Given the description of an element on the screen output the (x, y) to click on. 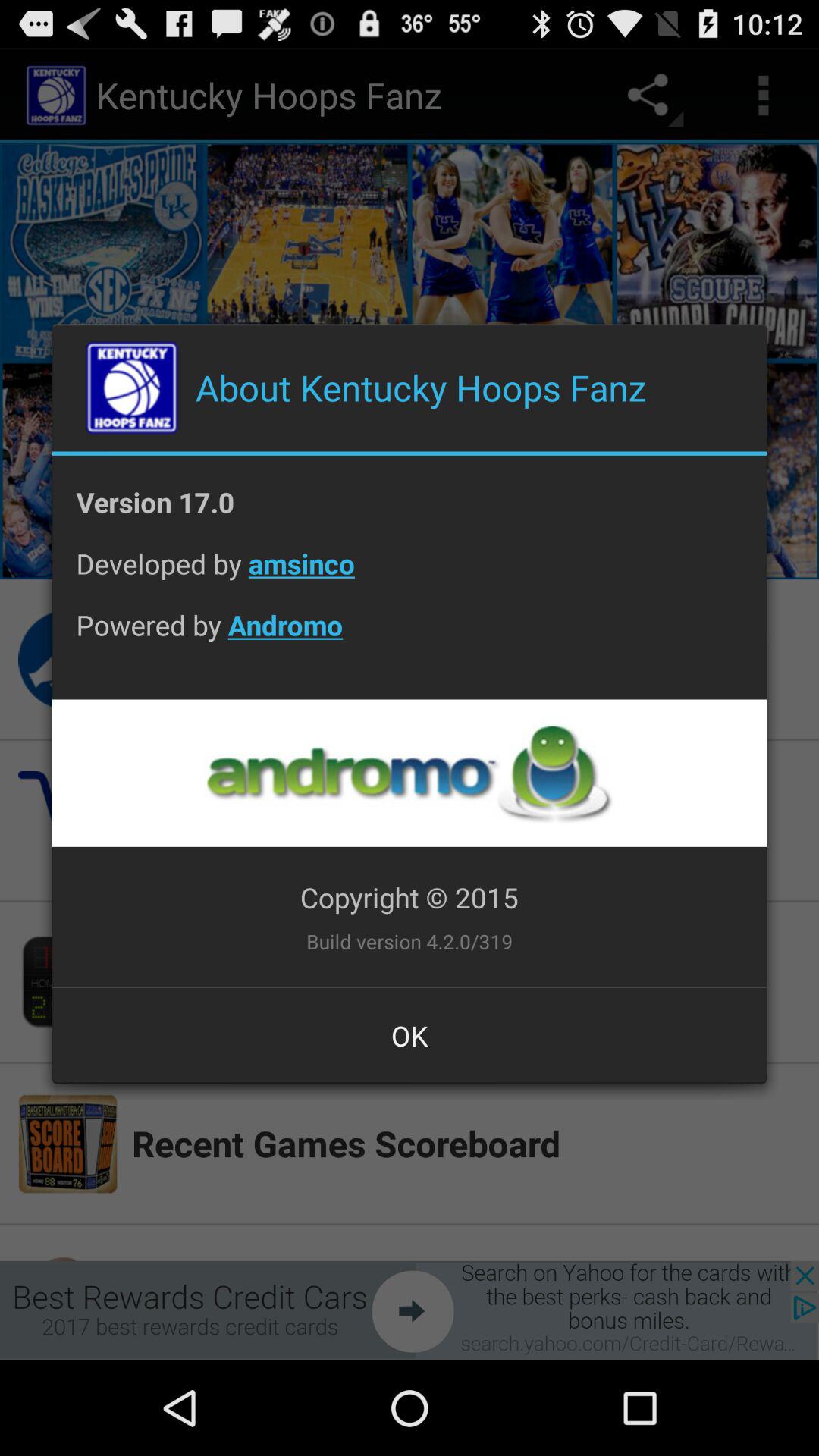
turn off the app below the version 17.0 icon (409, 575)
